Given the description of an element on the screen output the (x, y) to click on. 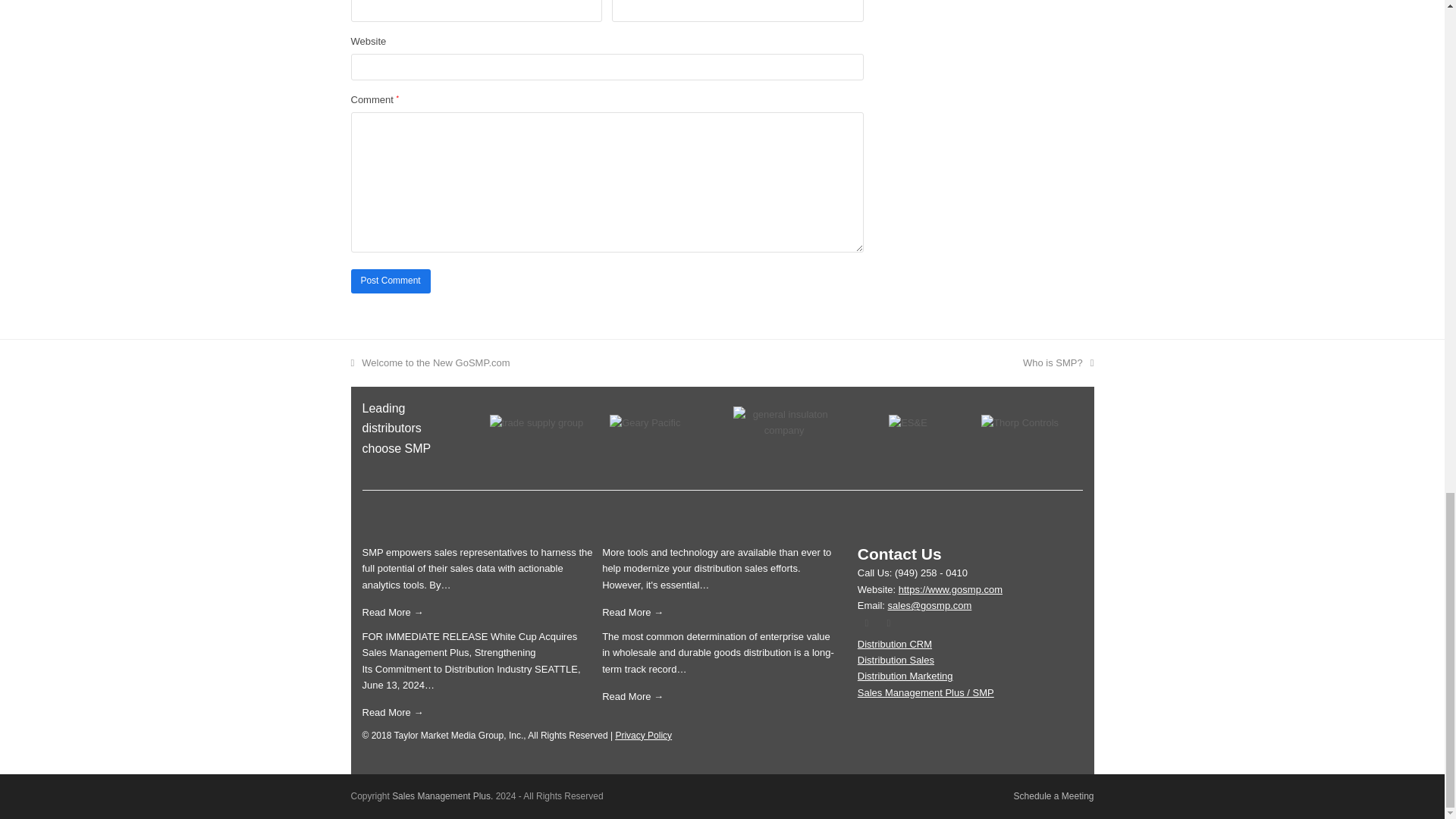
general insulaton company (783, 422)
trade supply group (536, 422)
Geary-Pacific-logo-white (644, 422)
Post Comment (389, 281)
